Given the description of an element on the screen output the (x, y) to click on. 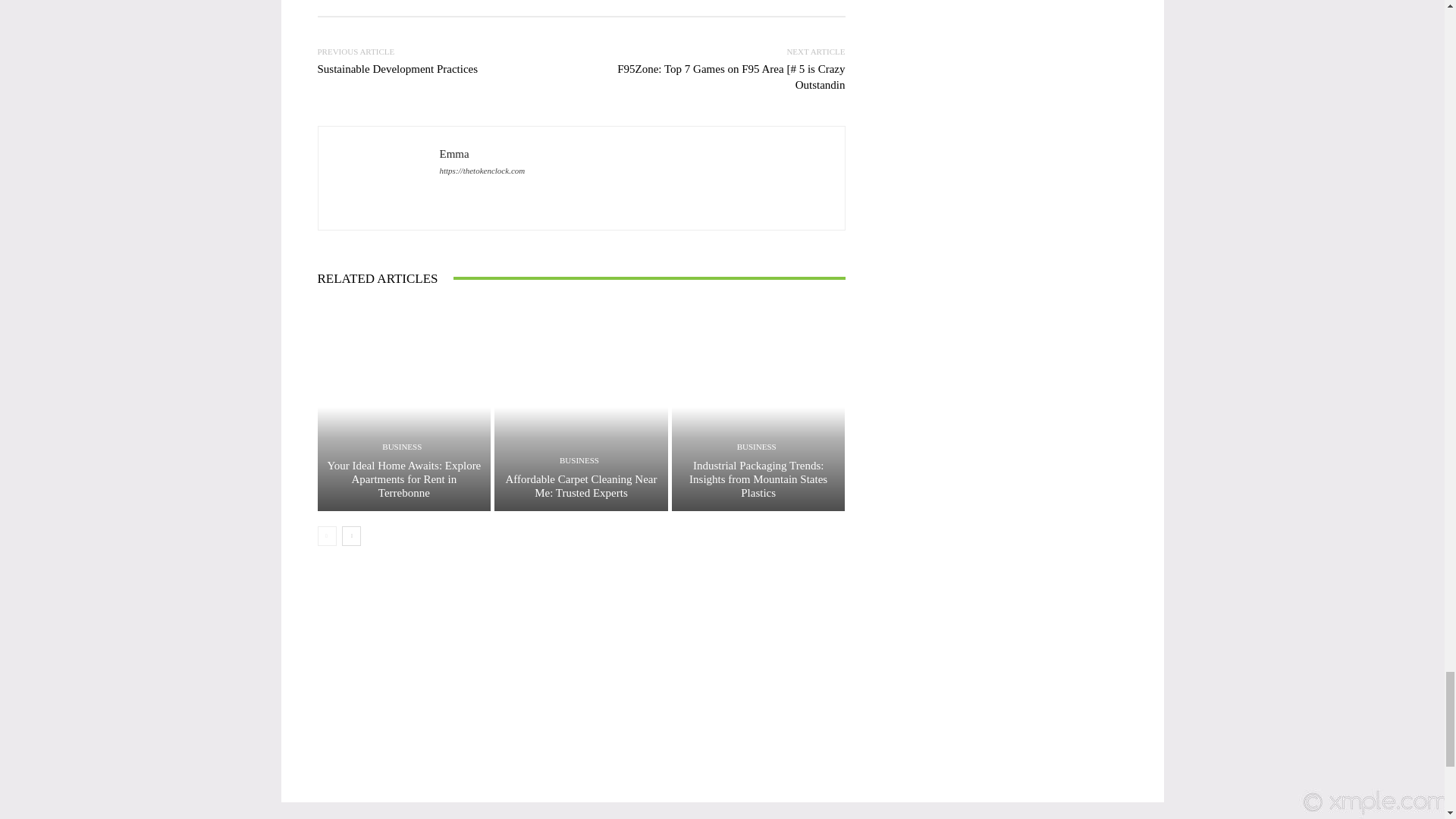
Affordable Carpet Cleaning Near Me: Trusted Experts (580, 485)
